Given the description of an element on the screen output the (x, y) to click on. 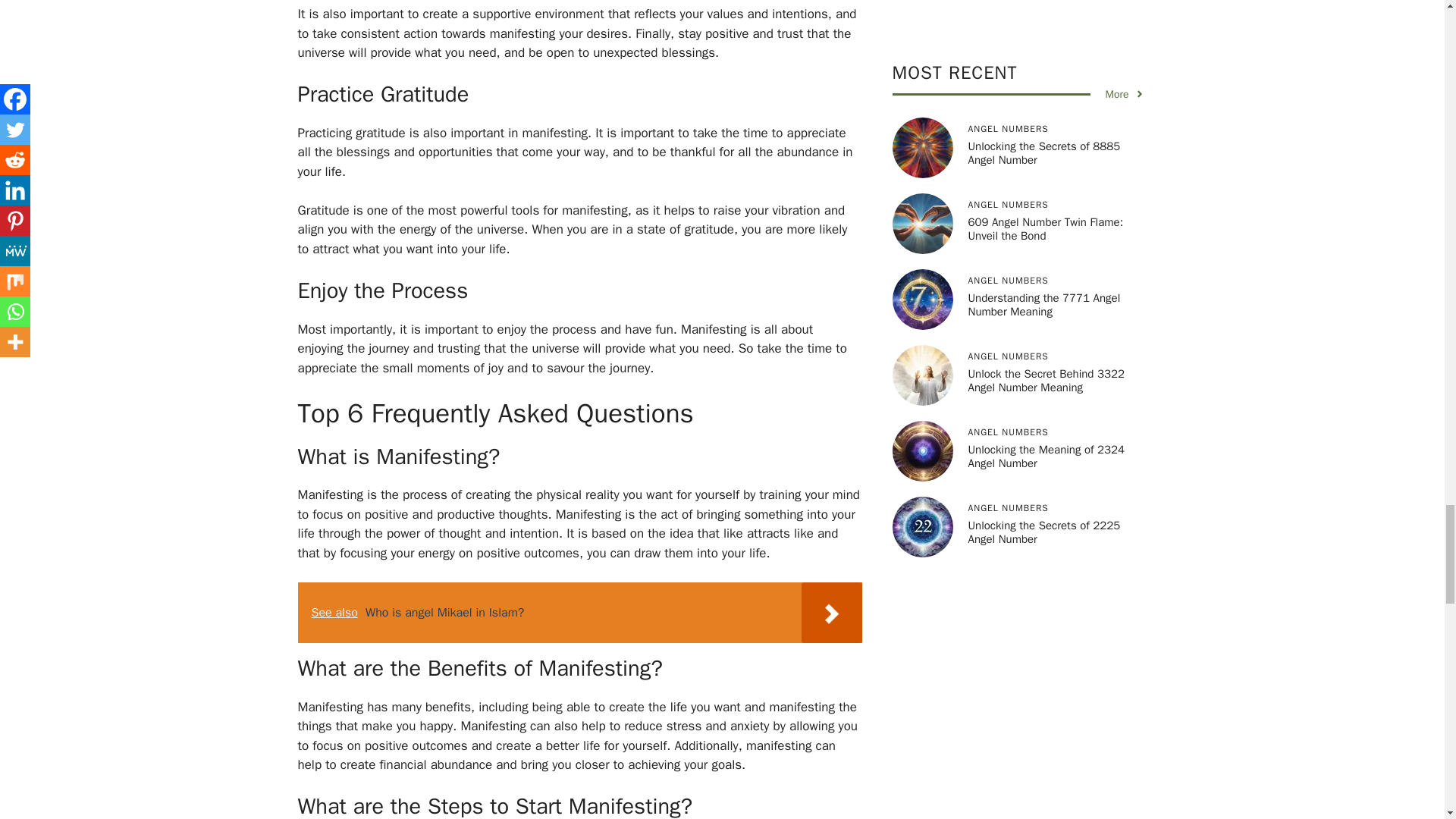
See also  Who is angel Mikael in Islam? (579, 612)
